Given the description of an element on the screen output the (x, y) to click on. 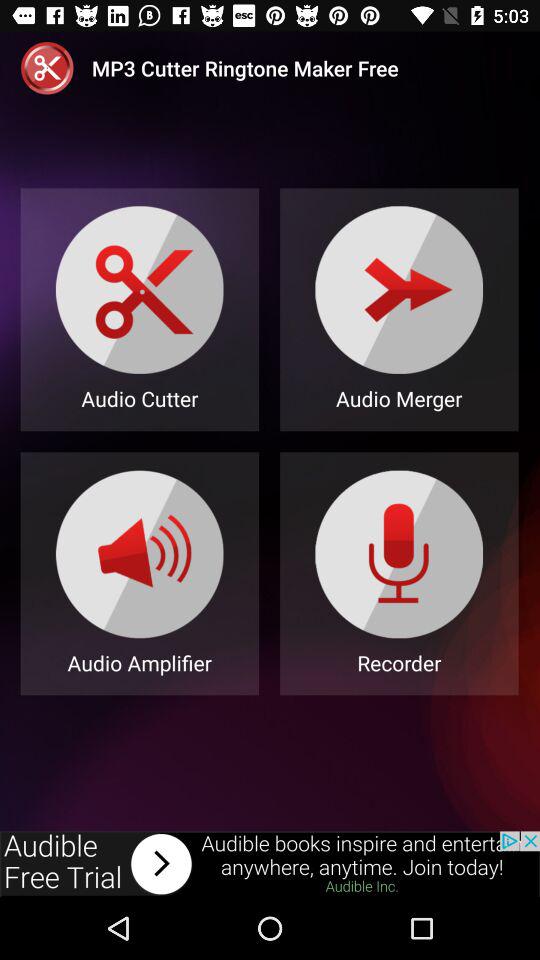
advertisement bar (270, 864)
